Given the description of an element on the screen output the (x, y) to click on. 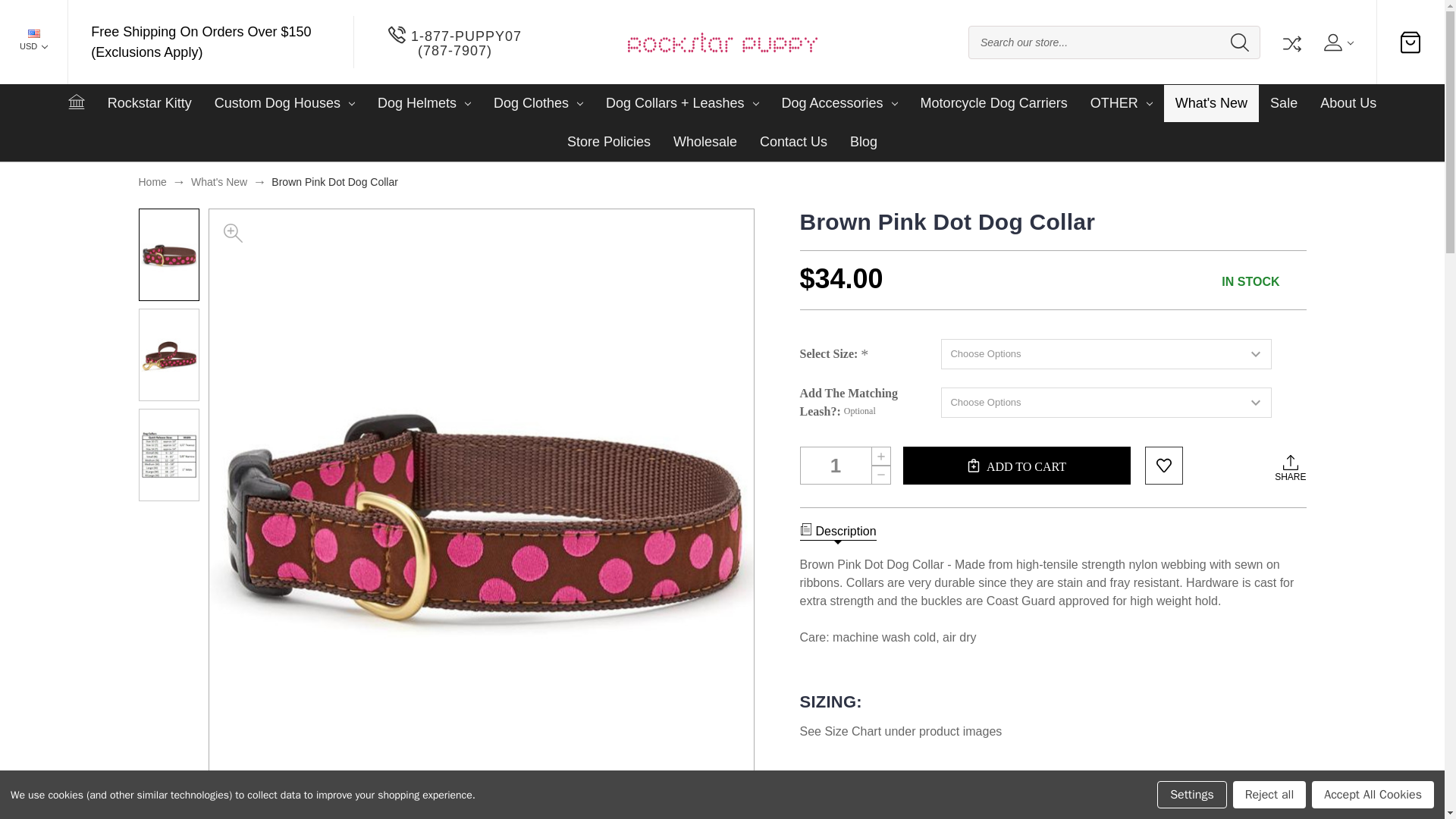
1 (844, 465)
Compare (1290, 42)
Rockstar Puppy (721, 41)
USER (1337, 42)
Rockstar Kitty (149, 103)
COMPARE (1290, 42)
Dog Clothes (537, 103)
SEARCH (1239, 42)
USD (34, 41)
